Given the description of an element on the screen output the (x, y) to click on. 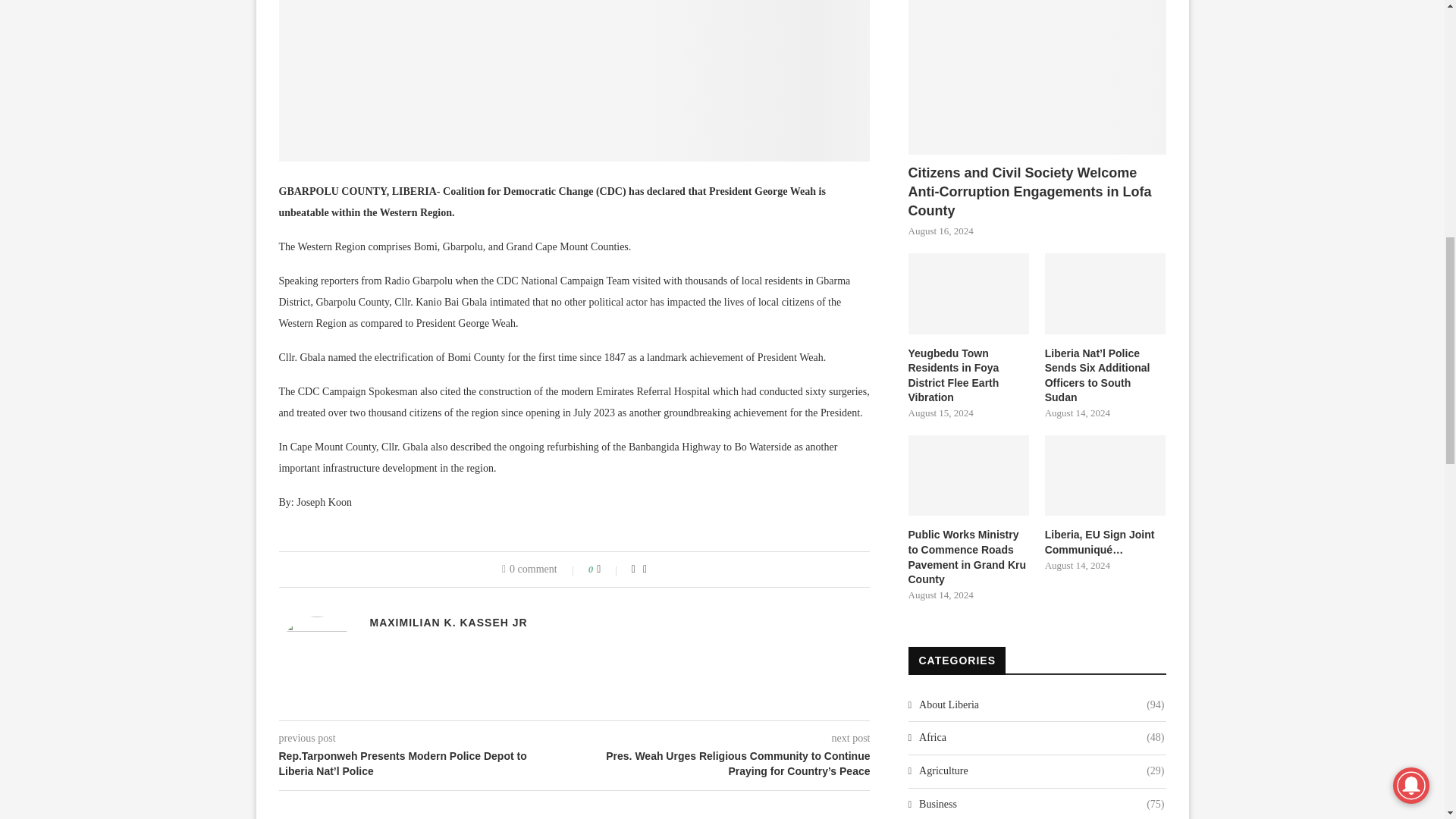
Like (608, 569)
Author Maximilian K. Kasseh jr (448, 622)
HM (574, 80)
